Given the description of an element on the screen output the (x, y) to click on. 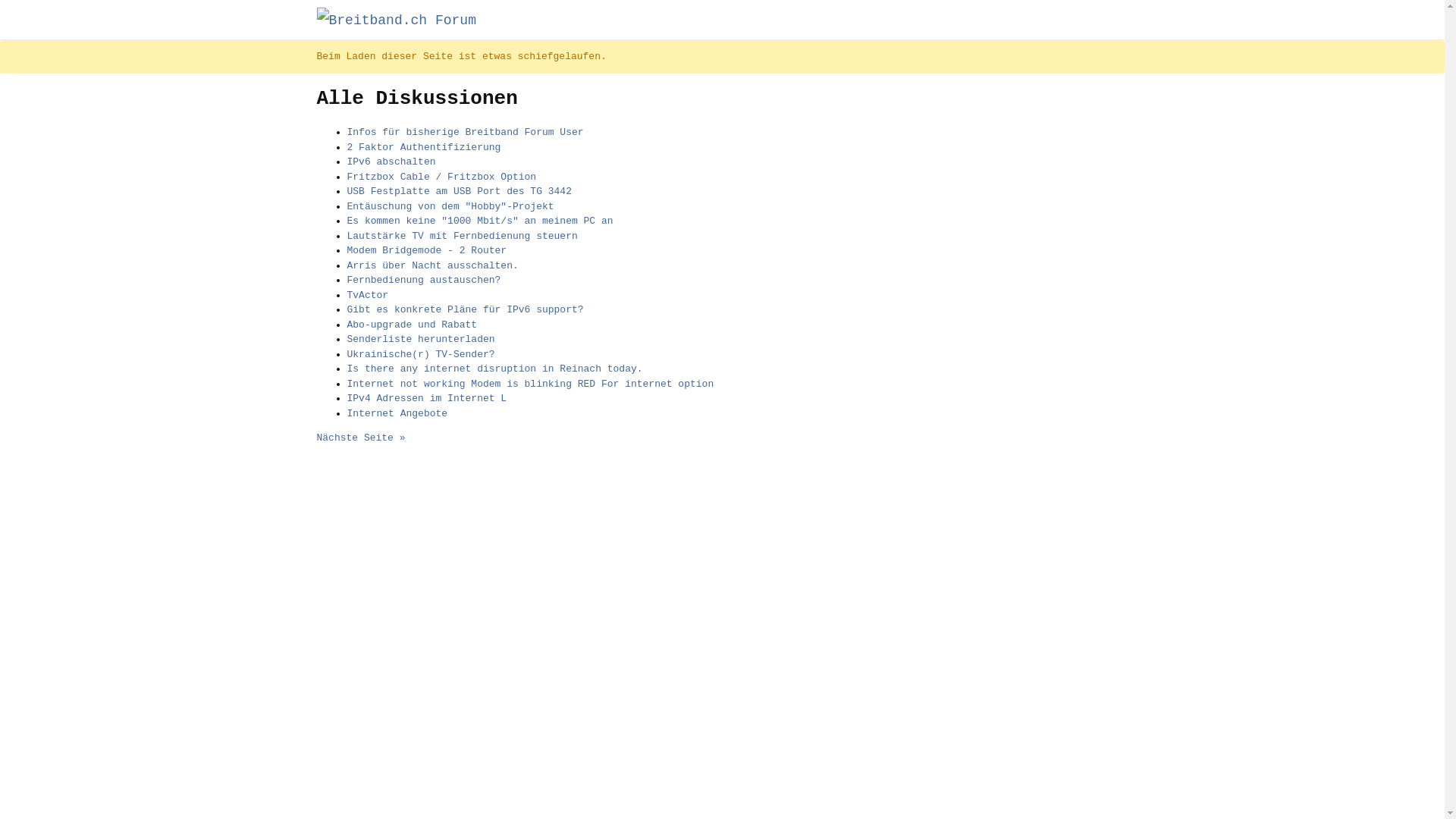
Senderliste herunterladen Element type: text (421, 339)
Is there any internet disruption in Reinach today. Element type: text (495, 368)
TvActor Element type: text (368, 295)
Abo-upgrade und Rabatt Element type: text (412, 324)
Fernbedienung austauschen? Element type: text (424, 279)
2 Faktor Authentifizierung Element type: text (424, 147)
Es kommen keine "1000 Mbit/s" an meinem PC an Element type: text (480, 220)
Ukrainische(r) TV-Sender? Element type: text (421, 354)
Internet Angebote Element type: text (397, 413)
Fritzbox Cable / Fritzbox Option Element type: text (441, 176)
IPv6 abschalten Element type: text (391, 161)
USB Festplatte am USB Port des TG 3442 Element type: text (459, 191)
Modem Bridgemode - 2 Router Element type: text (427, 250)
IPv4 Adressen im Internet L Element type: text (427, 398)
